Given the description of an element on the screen output the (x, y) to click on. 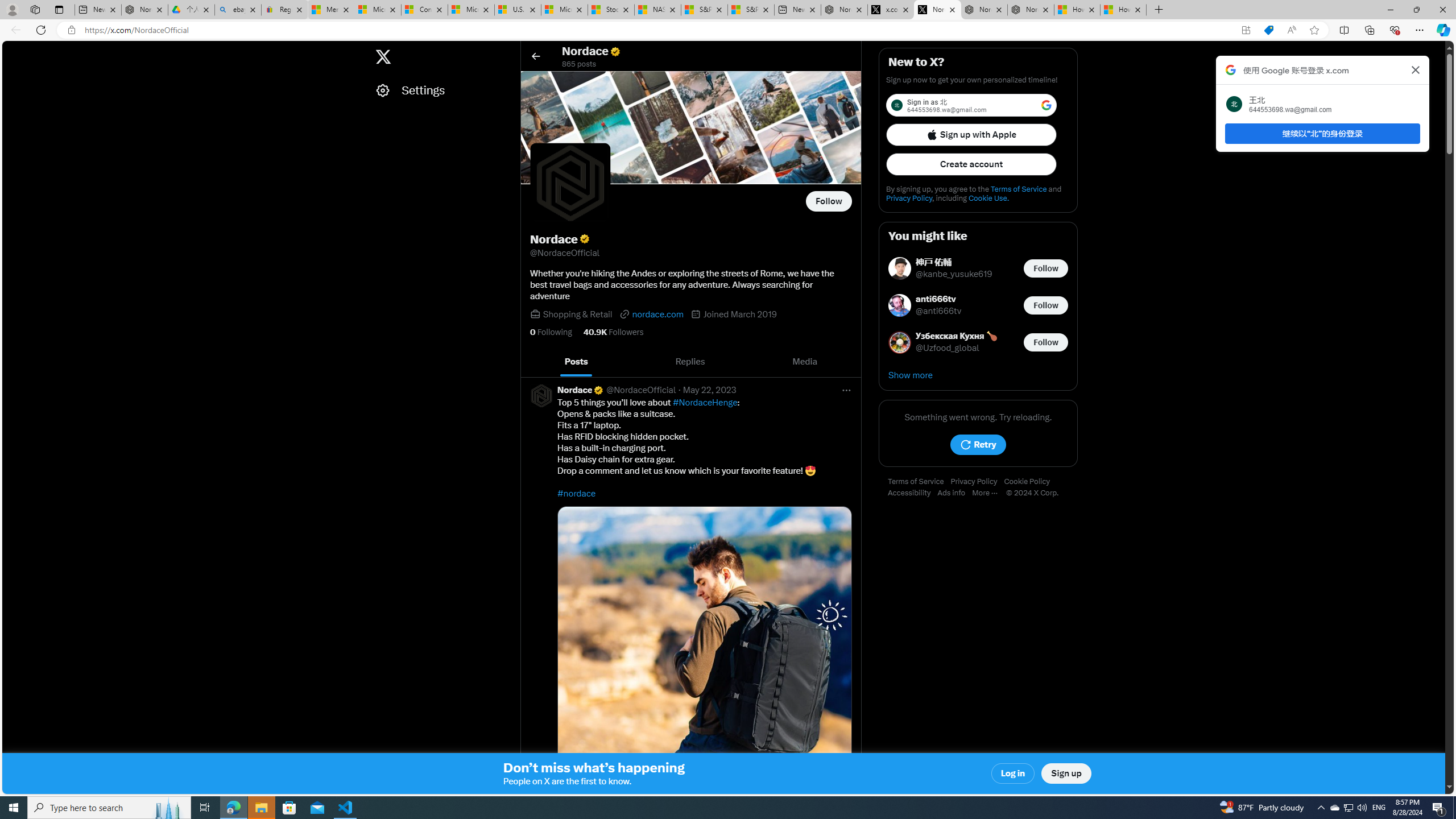
Follow @kanbe_yusuke619 (1045, 267)
Previous (532, 361)
Terms of Service (919, 481)
Cookie Use. (988, 198)
Sign up with Apple (971, 134)
#nordace (576, 493)
anti666tv @anti666tv Follow @anti666tv (978, 305)
Shopping & Retail (577, 313)
#NordaceHenge (705, 402)
